Given the description of an element on the screen output the (x, y) to click on. 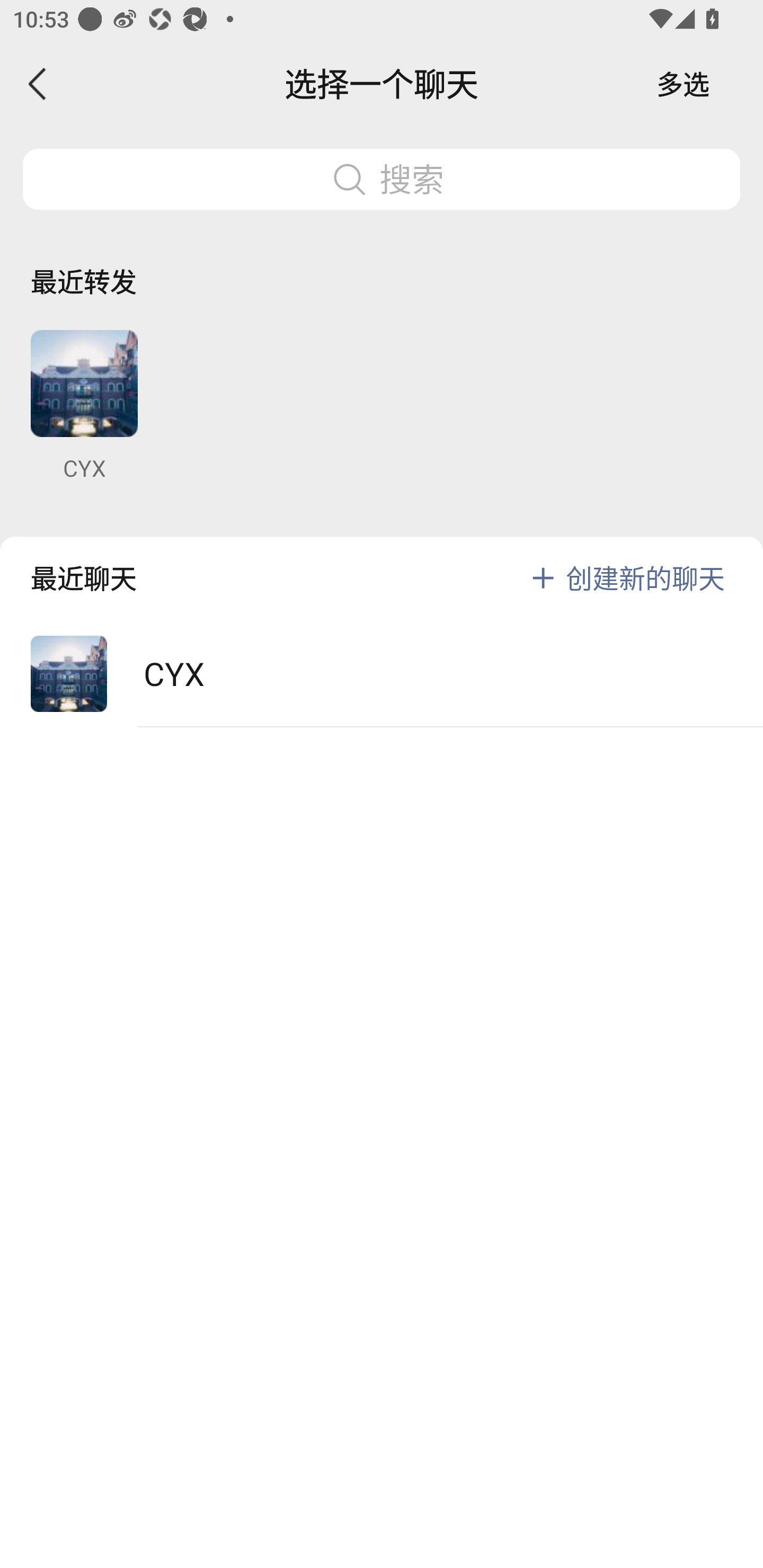
返回 (38, 83)
多选 (683, 83)
CYX (84, 405)
最近聊天 创建新的聊天 (381, 563)
创建新的聊天 (645, 577)
CYX (381, 673)
